Given the description of an element on the screen output the (x, y) to click on. 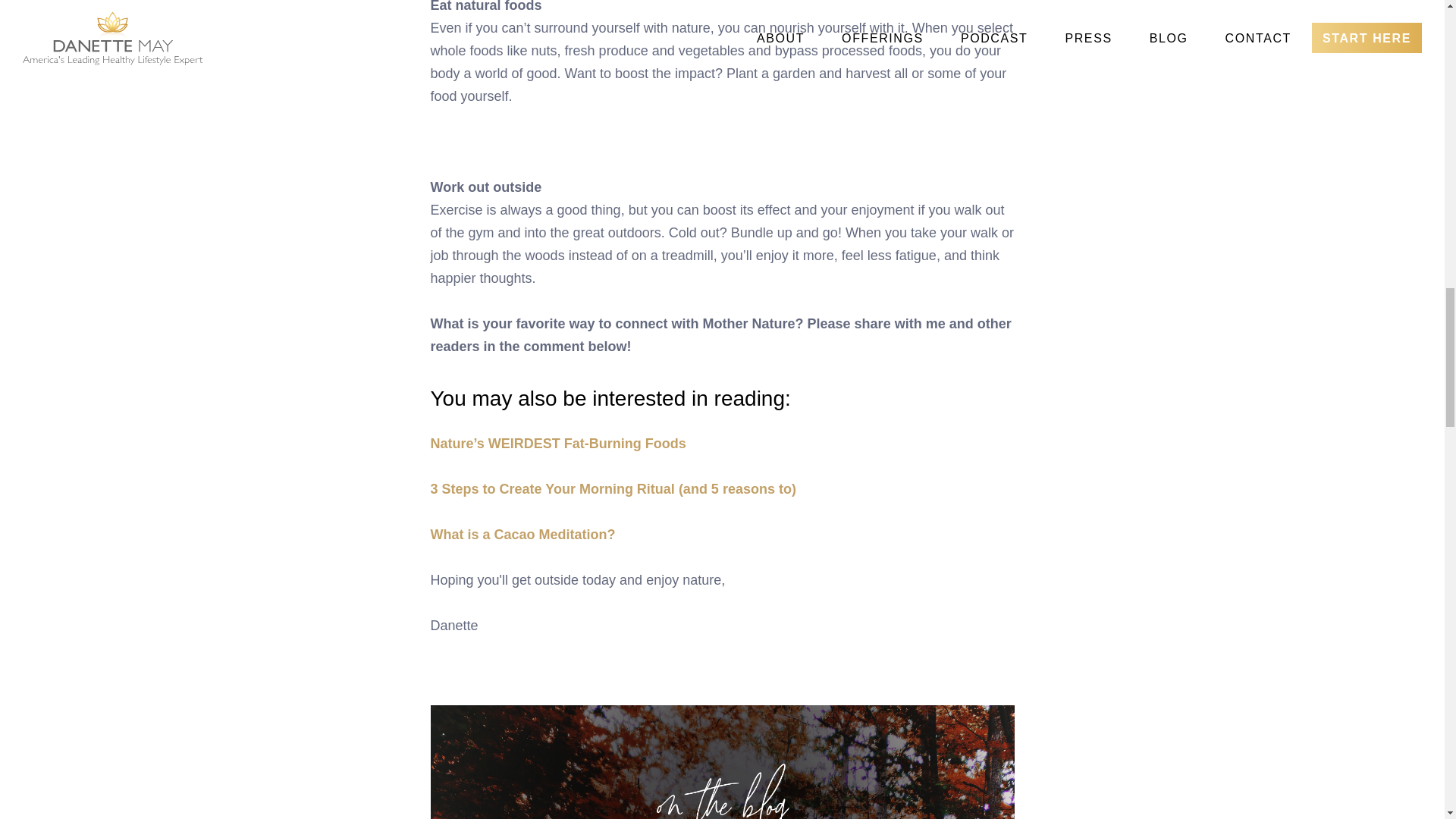
What is a Cacao Meditation? (522, 534)
